Given the description of an element on the screen output the (x, y) to click on. 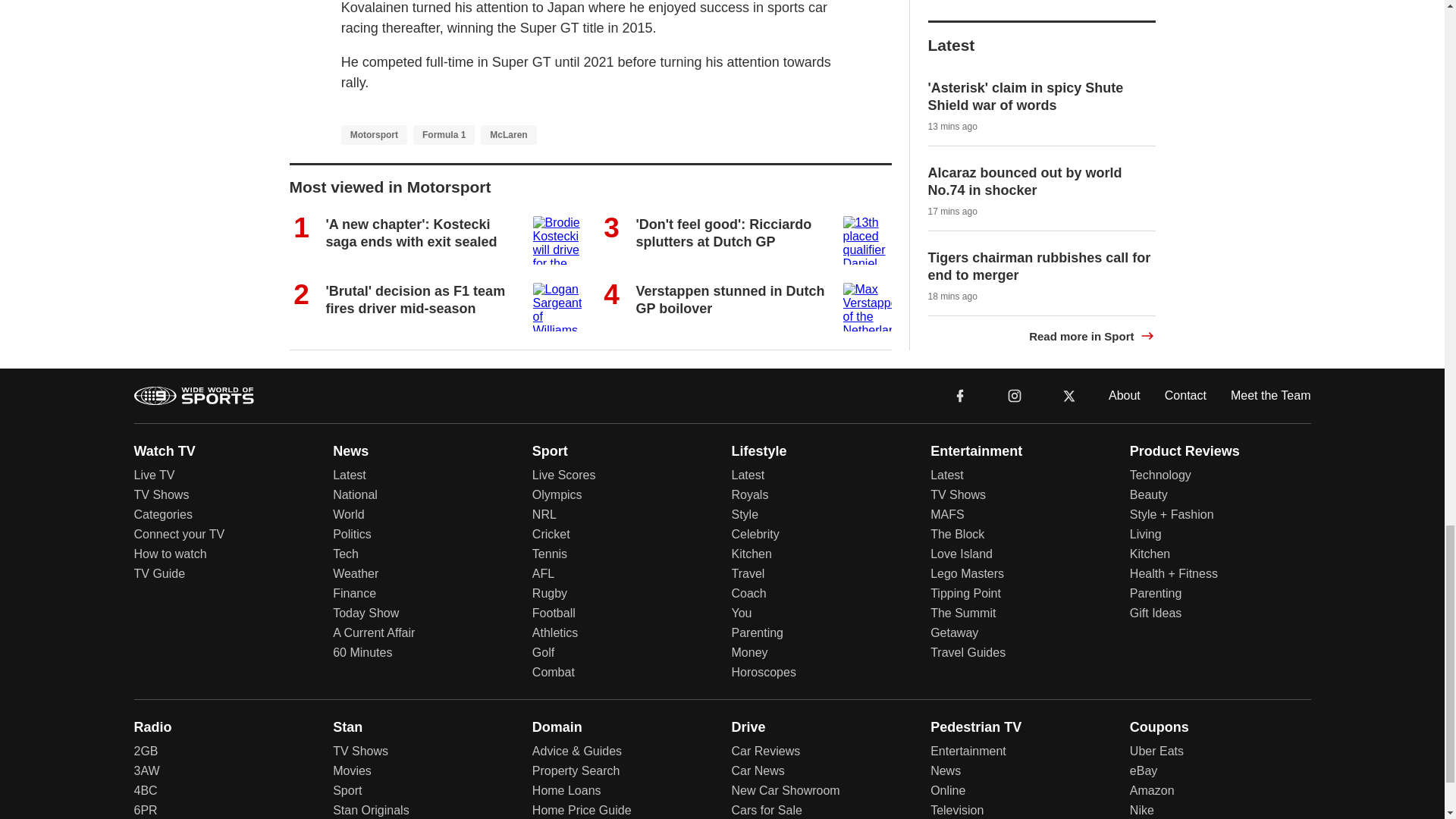
x (1069, 394)
Formula 1 (443, 134)
'Don't feel good': Ricciardo splutters at Dutch GP (722, 233)
facebook (959, 394)
instagram (1013, 394)
facebook (960, 395)
Verstappen stunned in Dutch GP boilover (729, 299)
x (1069, 395)
instagram (1014, 395)
McLaren (507, 134)
